Given the description of an element on the screen output the (x, y) to click on. 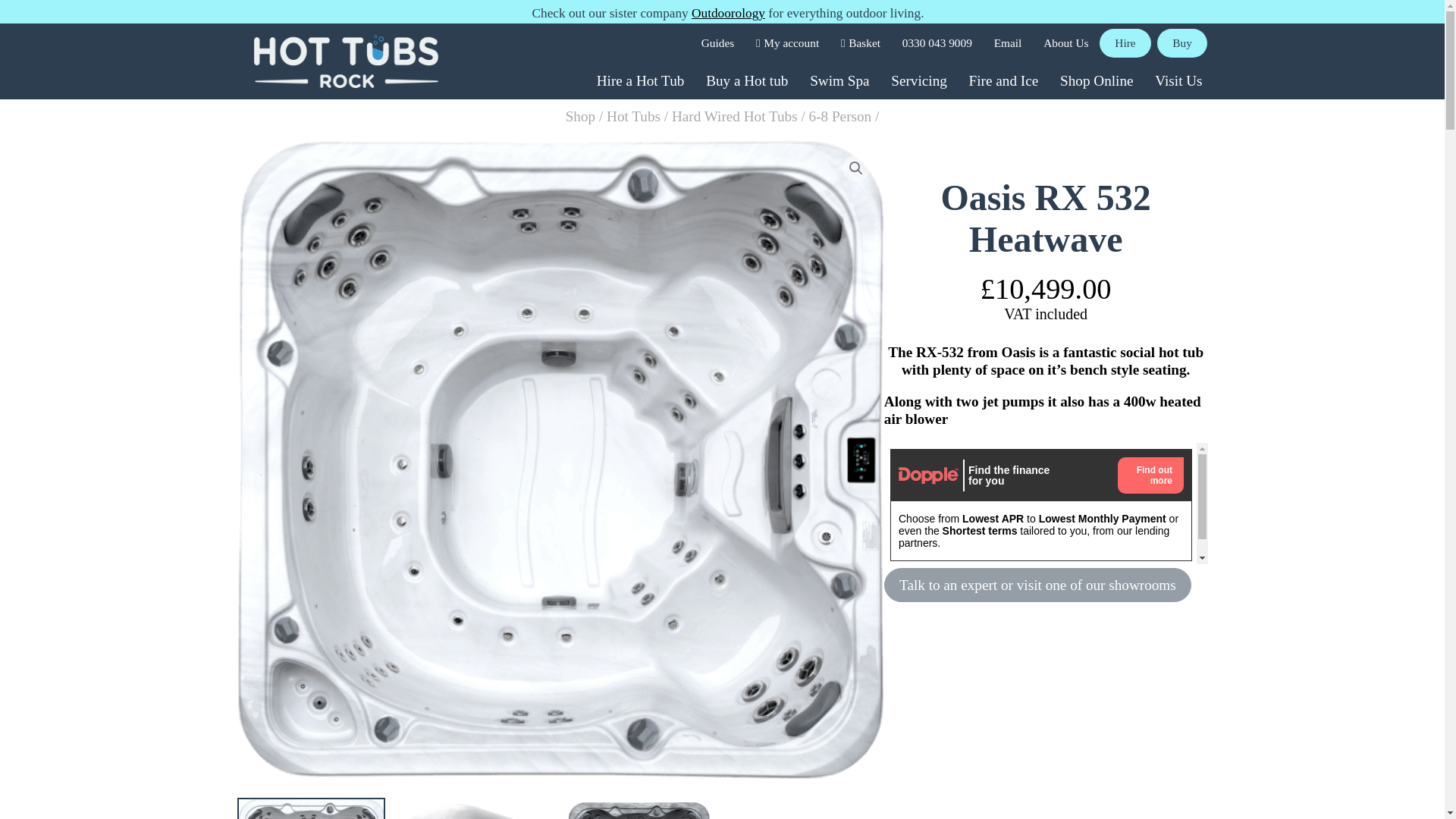
Guides (717, 42)
Visit Us (1178, 80)
6-8 Person (840, 116)
Fire and Ice (1003, 80)
My account (787, 42)
Shop Online (1096, 80)
Basket (860, 42)
Servicing (919, 80)
Hot Tubs (634, 116)
Buy (1182, 42)
Hire (1125, 42)
0330 043 9009 (936, 42)
Hire a Hot Tub (639, 80)
Dopple Finance (1045, 503)
